Given the description of an element on the screen output the (x, y) to click on. 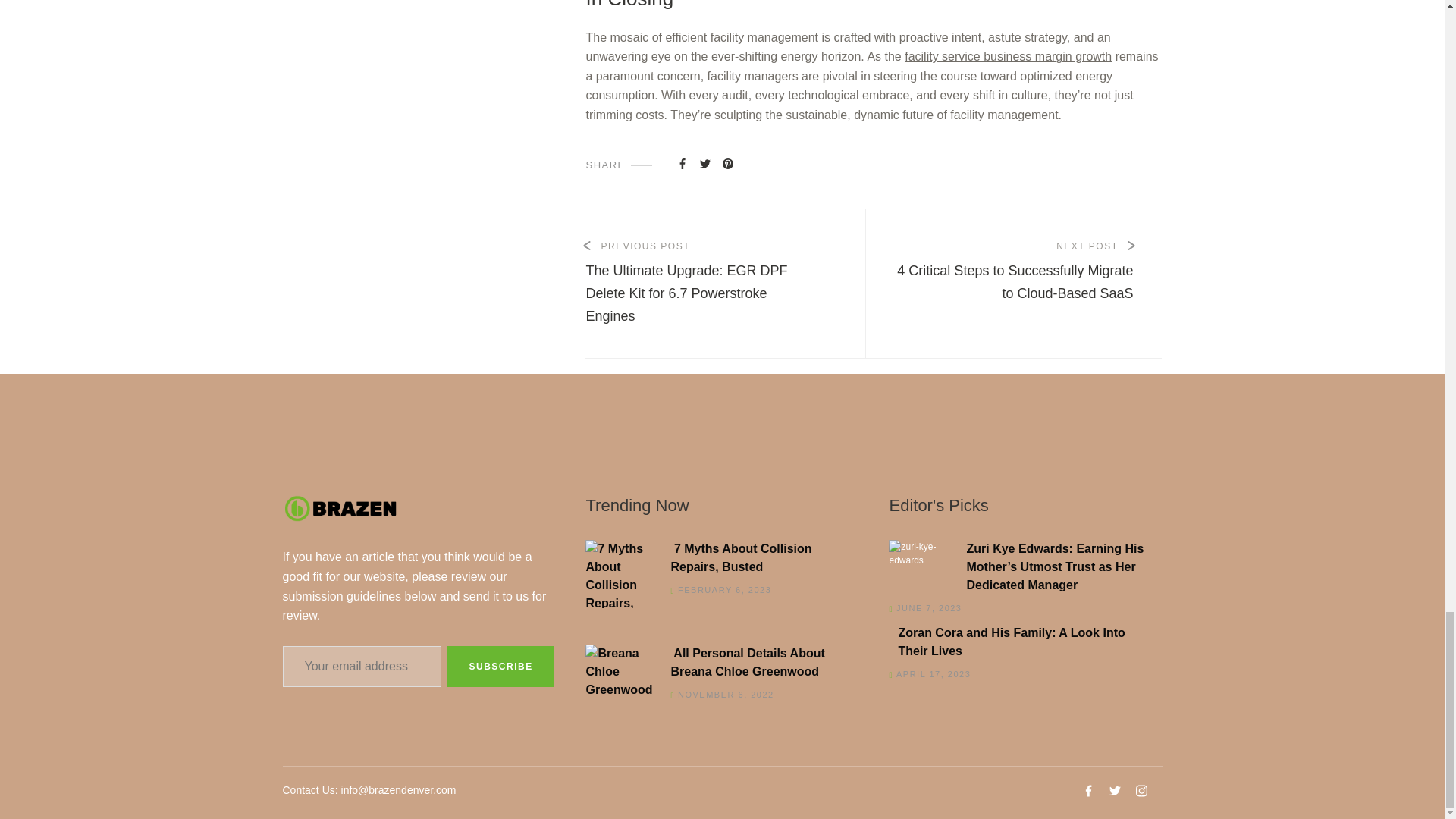
facility service business margin growth (1008, 56)
